Given the description of an element on the screen output the (x, y) to click on. 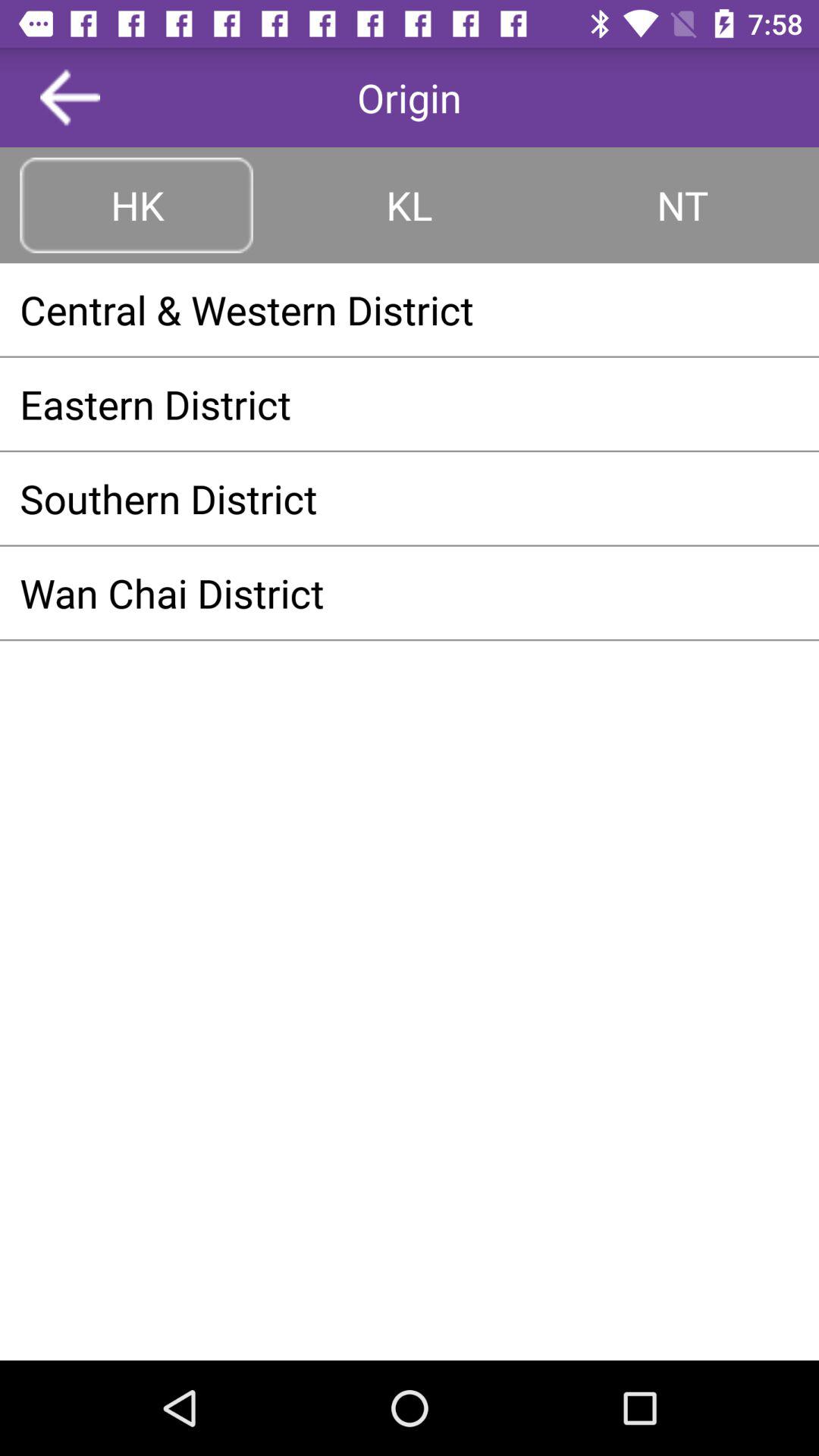
swipe until southern district item (409, 498)
